Given the description of an element on the screen output the (x, y) to click on. 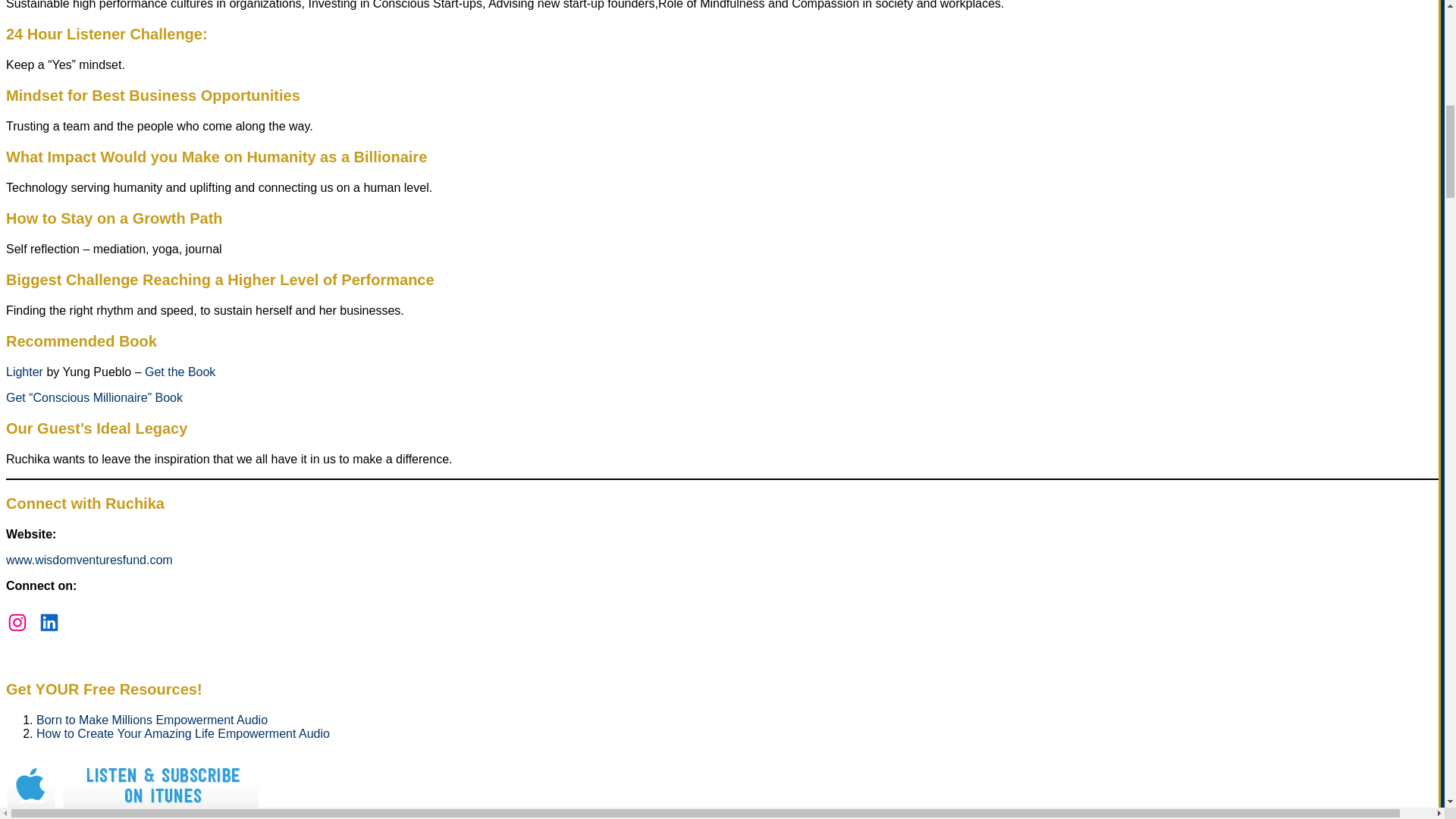
LinkedIn (49, 621)
www.wisdomventuresfund.com (89, 559)
How to Create Your Amazing Life Empowerment Audio (183, 733)
Born to Make Millions Empowerment Audio (151, 719)
Get the Book (179, 371)
Lighter (25, 371)
Instagram (17, 621)
